Given the description of an element on the screen output the (x, y) to click on. 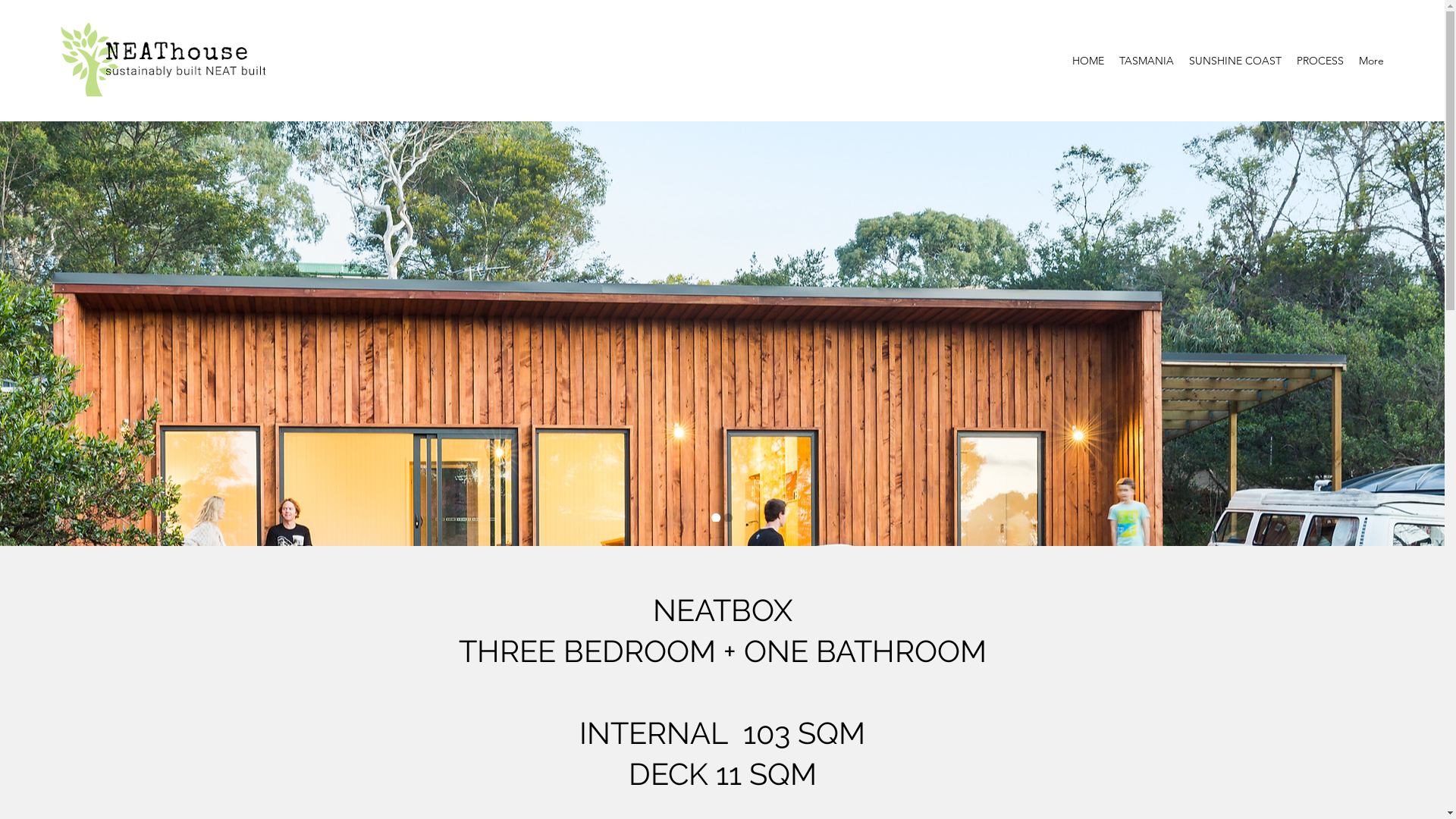
PROCESS Element type: text (1320, 60)
SUNSHINE COAST Element type: text (1235, 60)
TASMANIA Element type: text (1146, 60)
HOME Element type: text (1087, 60)
